Given the description of an element on the screen output the (x, y) to click on. 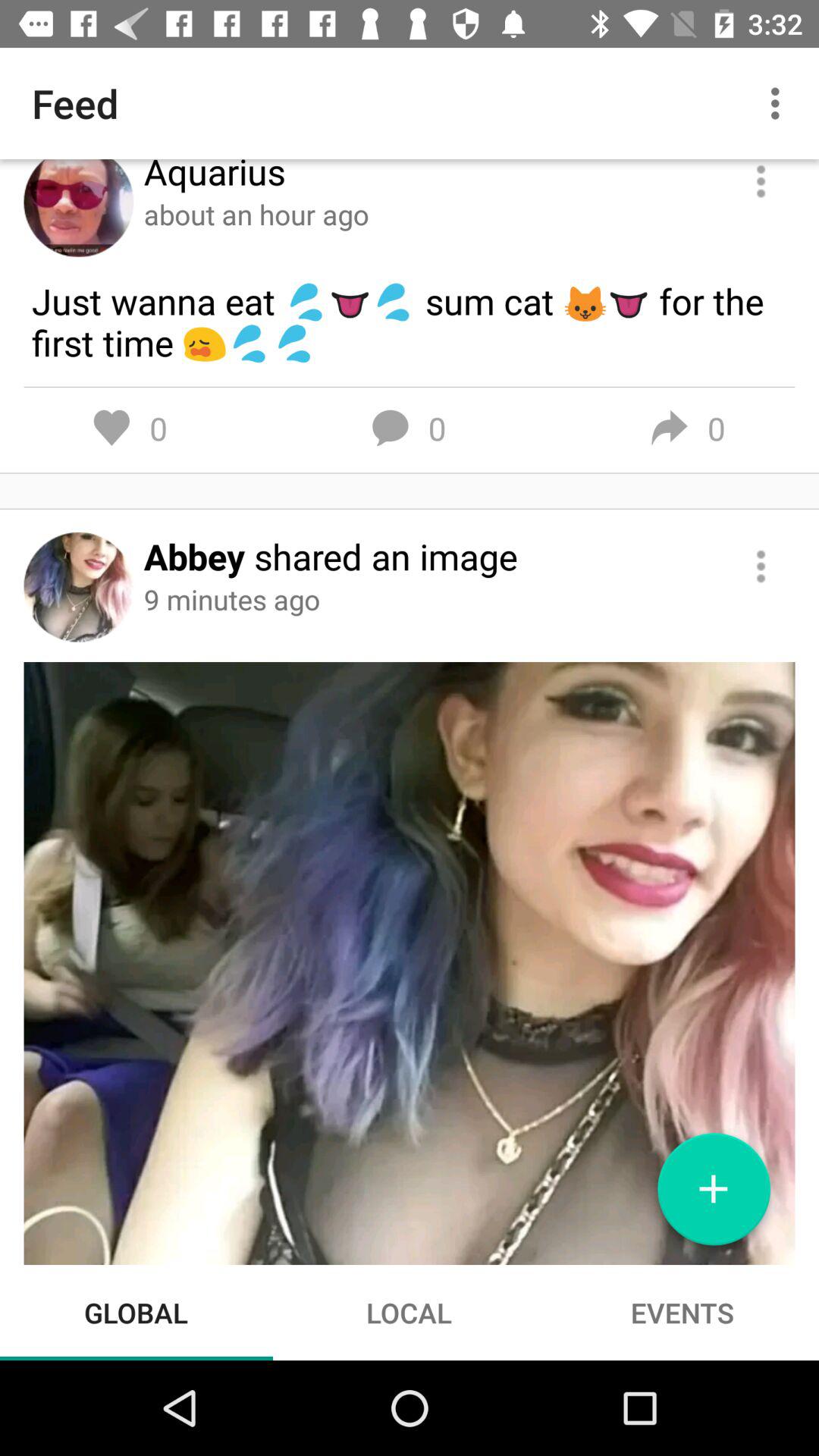
post options (760, 566)
